Given the description of an element on the screen output the (x, y) to click on. 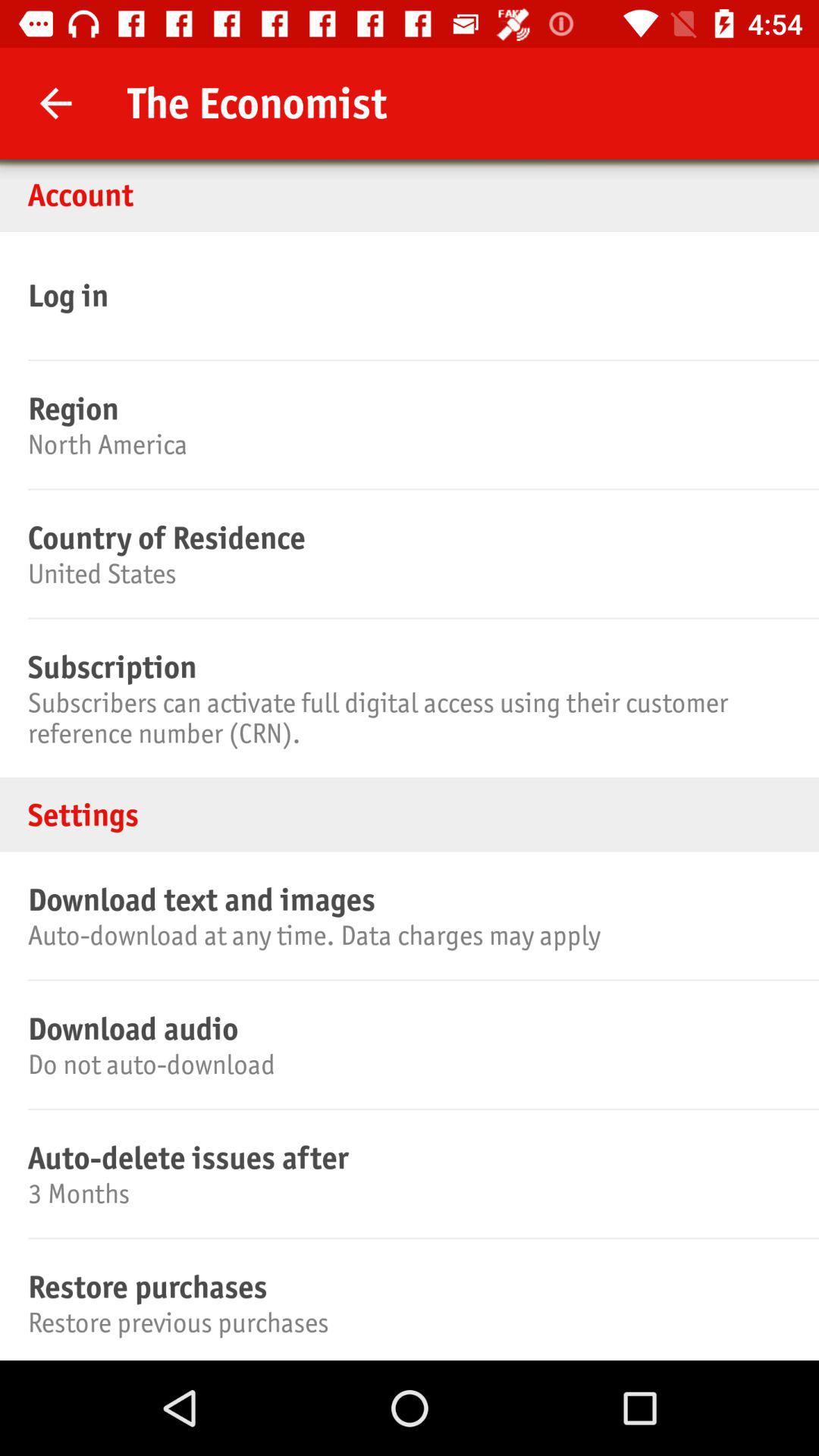
turn on item below united states icon (407, 666)
